Given the description of an element on the screen output the (x, y) to click on. 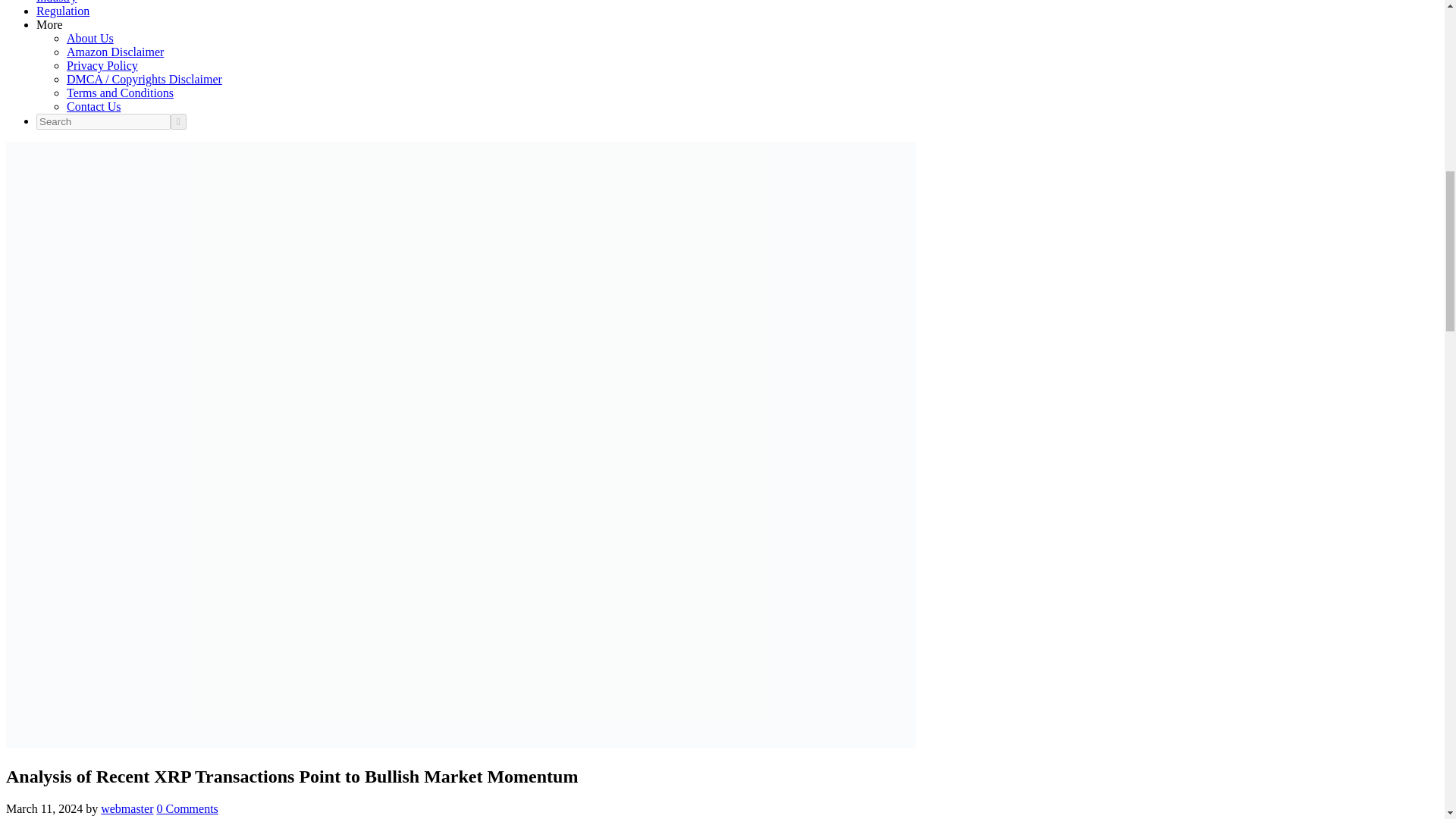
Contact Us (93, 106)
Regulation (62, 10)
Amazon Disclaimer (114, 51)
Privacy Policy (102, 65)
About Us (89, 38)
More (49, 24)
Terms and Conditions (119, 92)
Industry (56, 2)
